Given the description of an element on the screen output the (x, y) to click on. 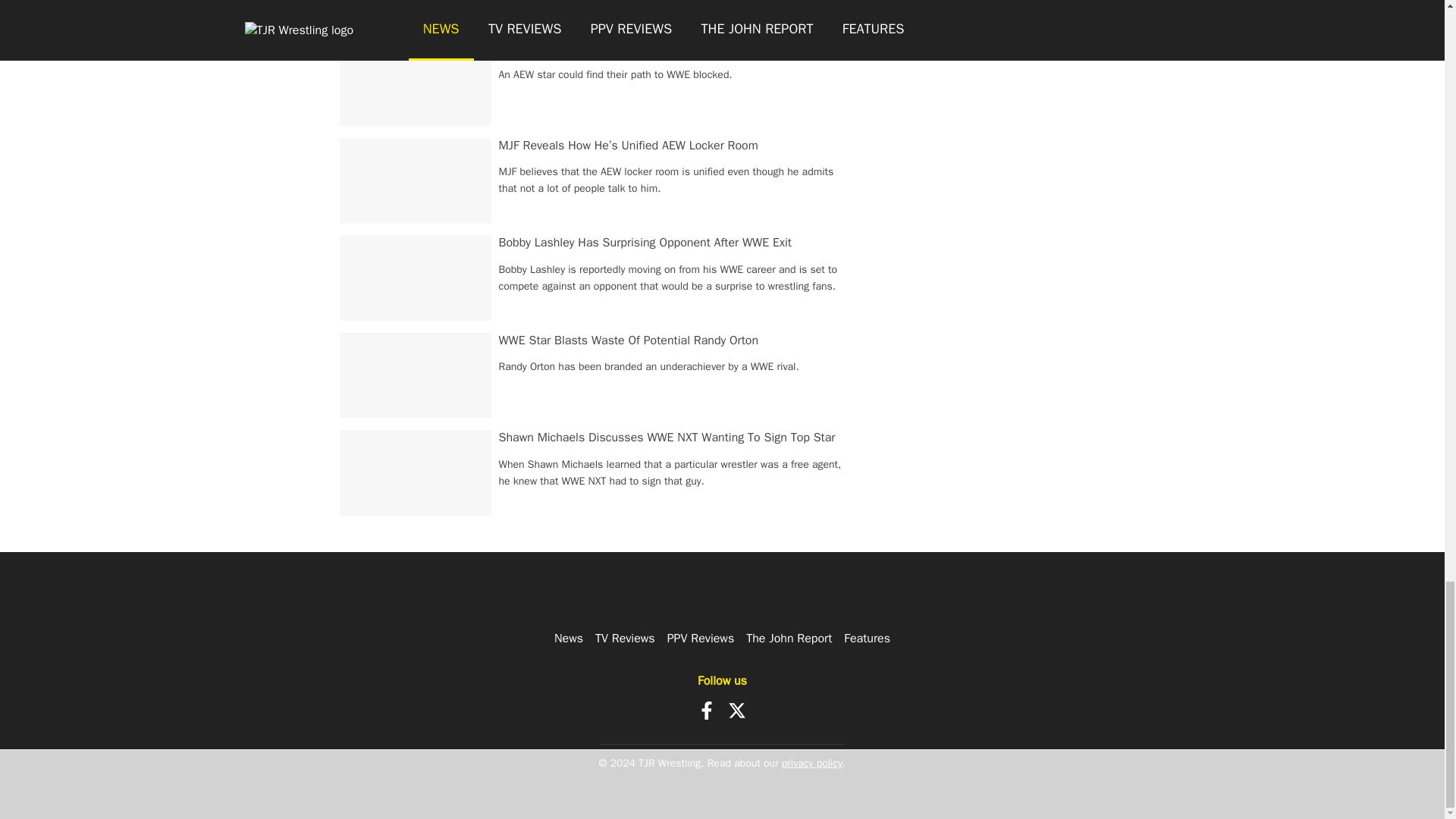
Facebook (706, 710)
X (736, 710)
Bobby Lashley Has Surprising Opponent After WWE Exit (645, 242)
WWE Star Blasts Waste Of Potential Randy Orton (628, 340)
